Given the description of an element on the screen output the (x, y) to click on. 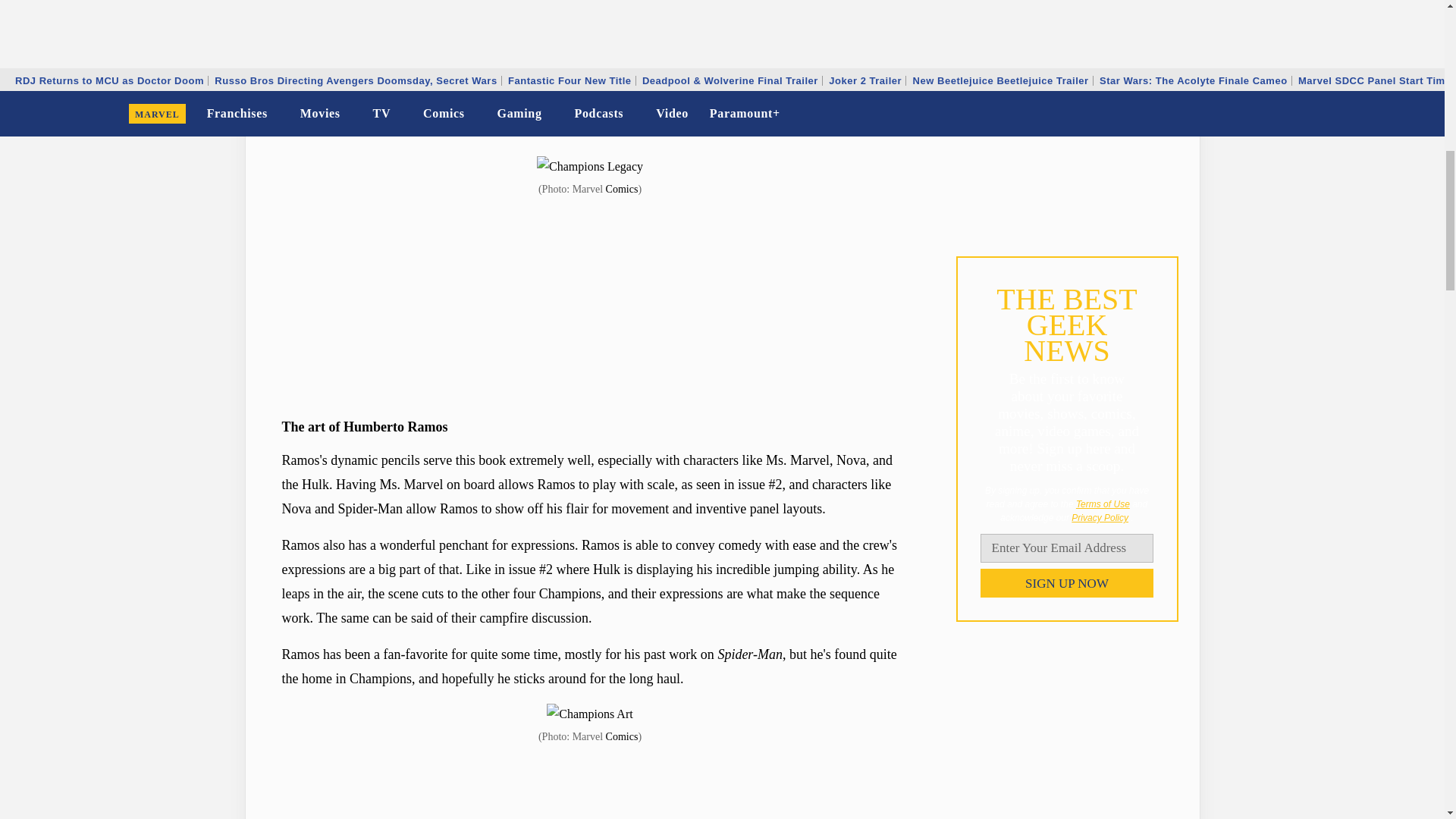
Champions Legacy (590, 166)
Champions Art (589, 713)
